Given the description of an element on the screen output the (x, y) to click on. 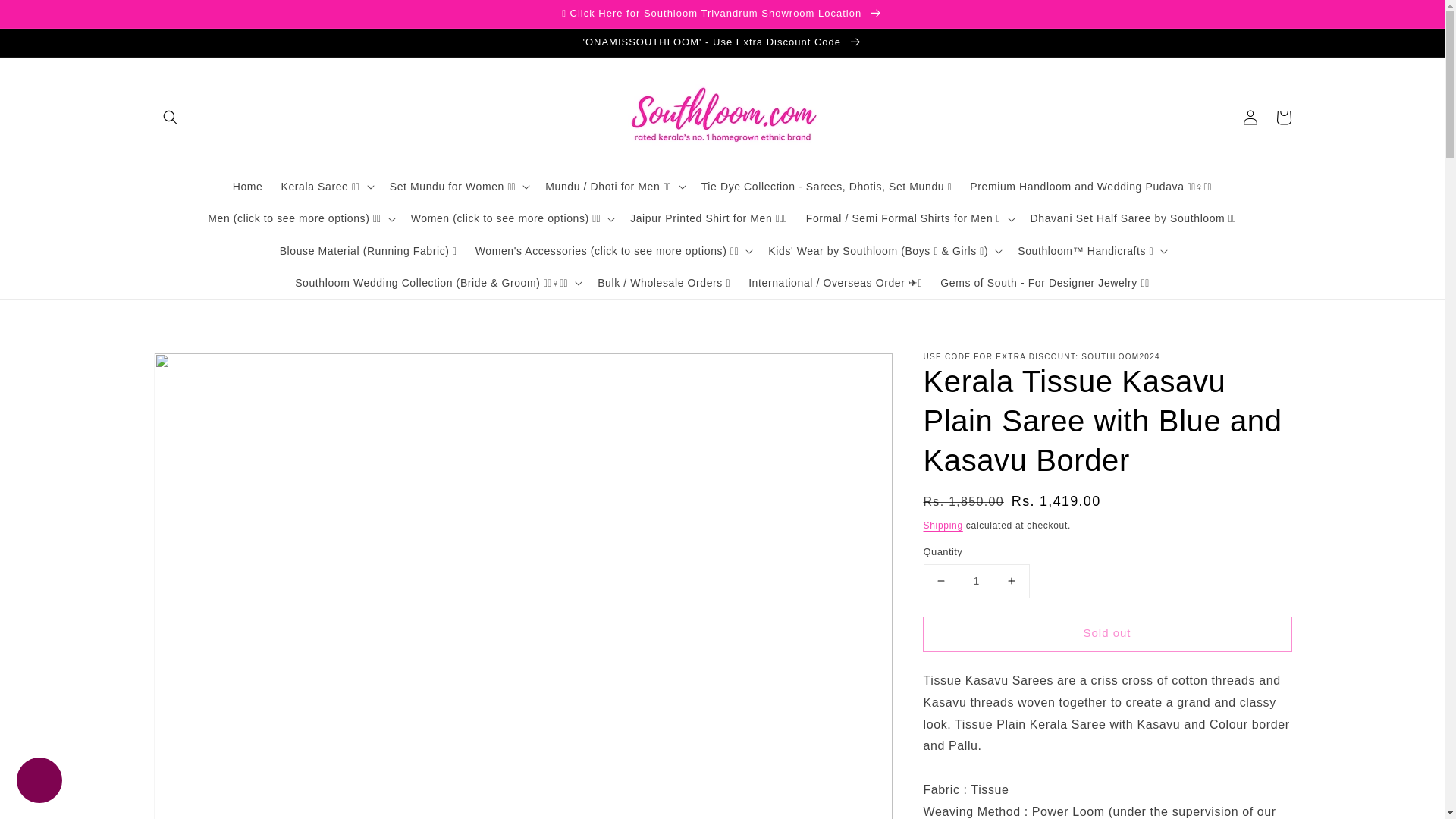
Shopify online store chat (38, 781)
Skip to content (45, 16)
1 (976, 581)
